Given the description of an element on the screen output the (x, y) to click on. 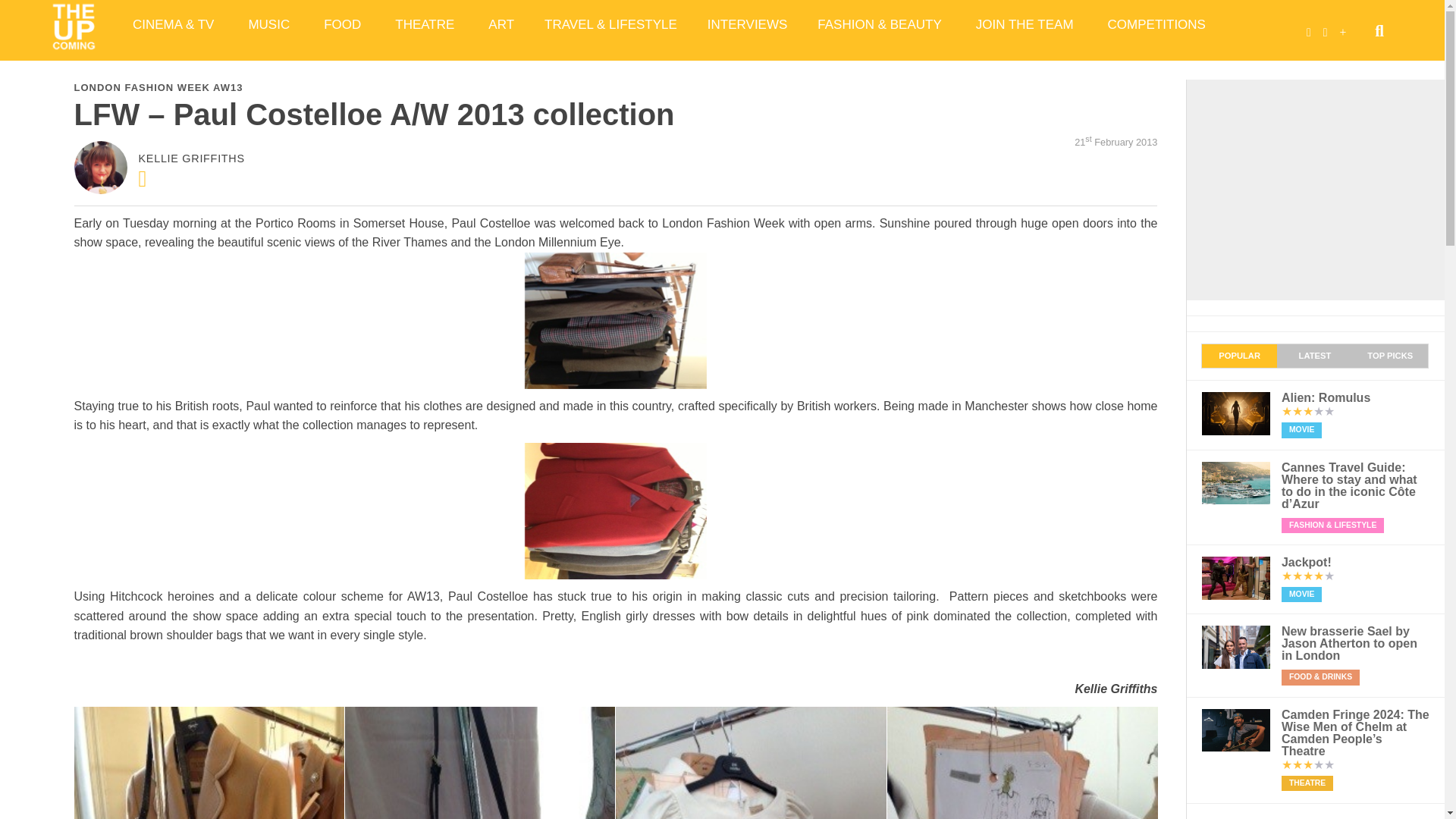
INTERVIEWS (747, 24)
FOOD (344, 24)
THEATRE (426, 24)
ART (501, 24)
MUSIC (270, 24)
JOIN THE TEAM (1026, 24)
